Given the description of an element on the screen output the (x, y) to click on. 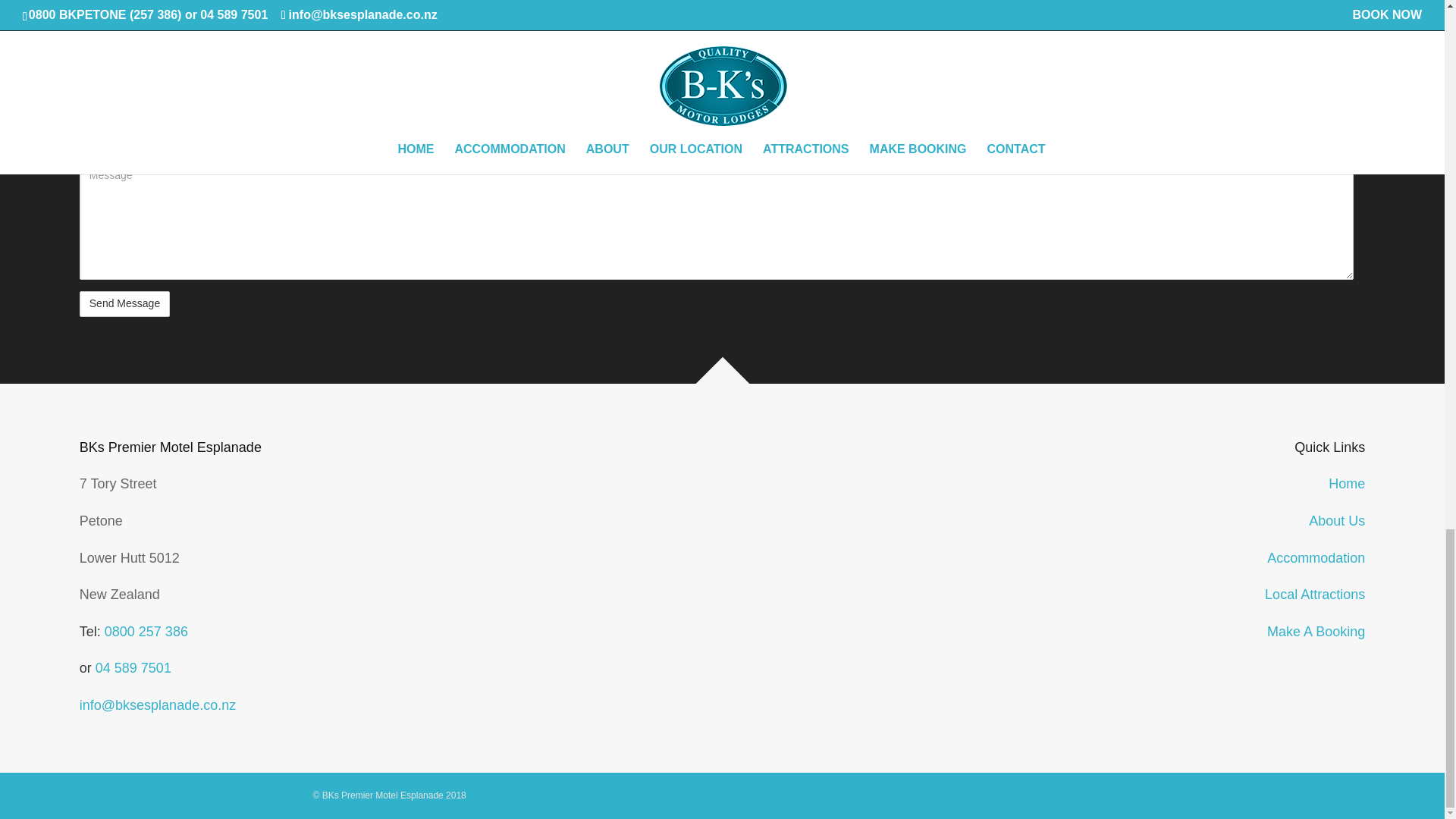
About Us (1336, 520)
Accommodation (1315, 557)
04 589 7501 (133, 667)
Send Message (125, 303)
Home (1346, 483)
Local Attractions (1315, 594)
Make A Booking (1315, 631)
Send Message (125, 303)
0800 257 386 (145, 631)
